Given the description of an element on the screen output the (x, y) to click on. 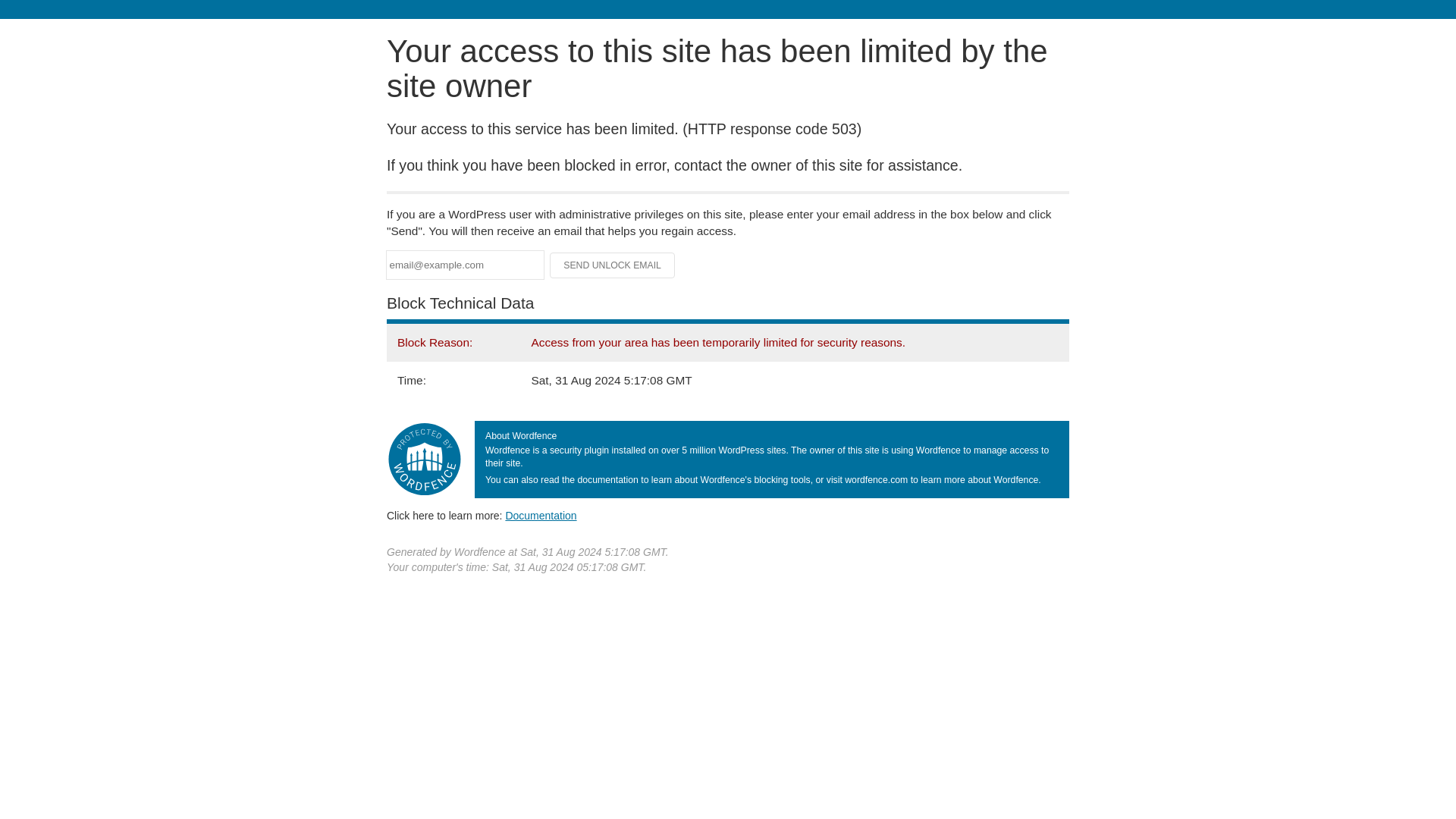
Send Unlock Email (612, 265)
Send Unlock Email (612, 265)
Documentation (540, 515)
